Given the description of an element on the screen output the (x, y) to click on. 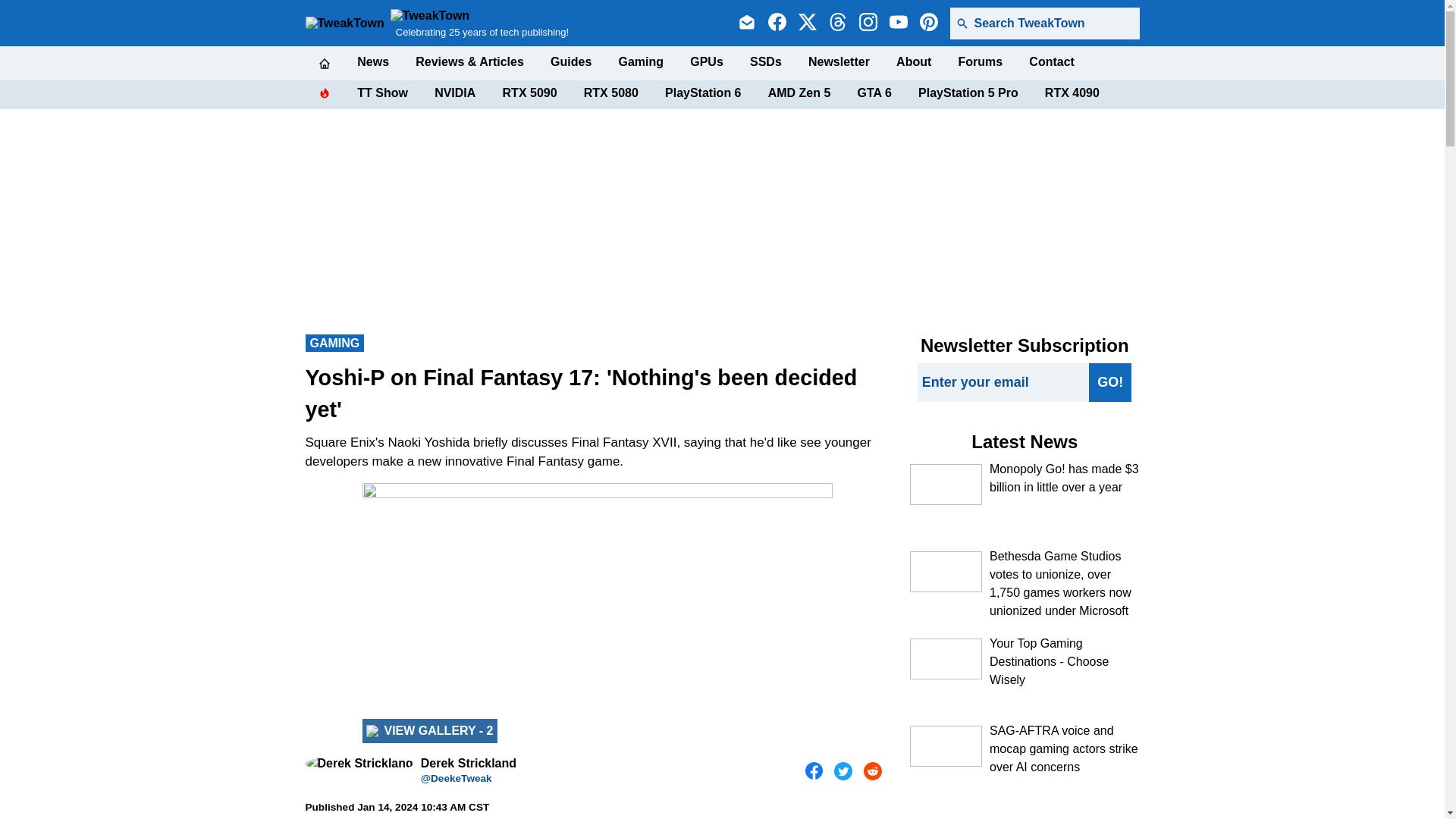
Follow us on X (806, 23)
News (372, 61)
Subscribe to us on YouTube (897, 23)
Celebrating 25 years of tech publishing! (479, 22)
Follow us on Threads (836, 23)
Share on Reddit (871, 771)
Yoshi-P on Final Fantasy 17: 'Nothing's been decided yet' (597, 614)
Open Gallery (429, 730)
GO! (1110, 382)
Share on Twitter (842, 771)
Sign up to the TweakTown newsletter (745, 23)
Derek Strickland (358, 763)
Share on Facebook (814, 771)
Follow us on Instagram (867, 23)
